Given the description of an element on the screen output the (x, y) to click on. 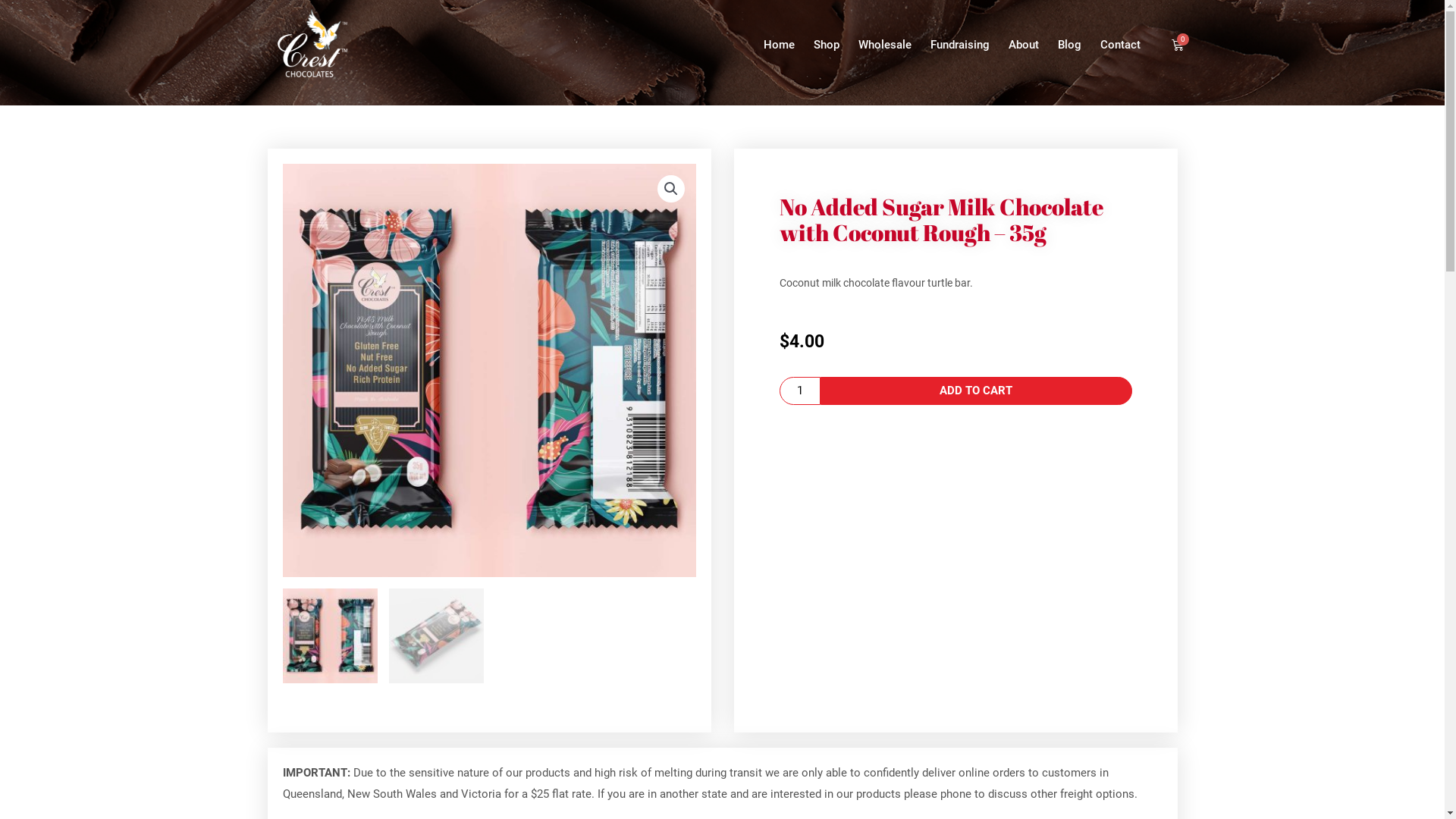
Fundraising Element type: text (958, 44)
0
Cart Element type: text (1177, 44)
ADD TO CART Element type: text (976, 390)
Home Element type: text (777, 44)
Shop Element type: text (825, 44)
Wholesale Element type: text (884, 44)
NAS-Milk-Chocolate-Coconut2 Element type: hover (488, 370)
Contact Element type: text (1119, 44)
About Element type: text (1023, 44)
Blog Element type: text (1068, 44)
